Given the description of an element on the screen output the (x, y) to click on. 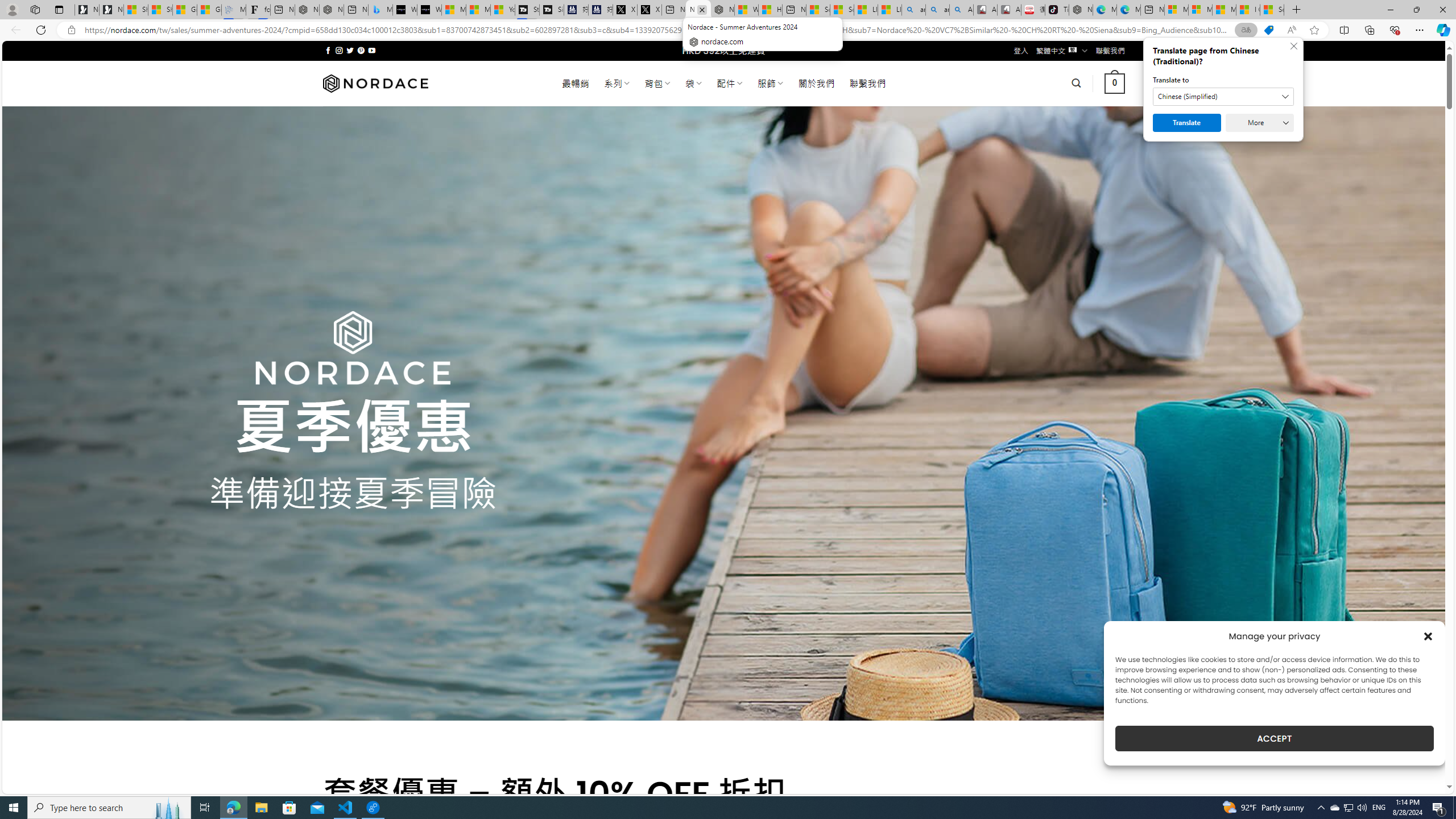
  0   (1115, 83)
More (1259, 122)
This site has coupons! Shopping in Microsoft Edge (1268, 29)
ACCEPT (1274, 738)
